Given the description of an element on the screen output the (x, y) to click on. 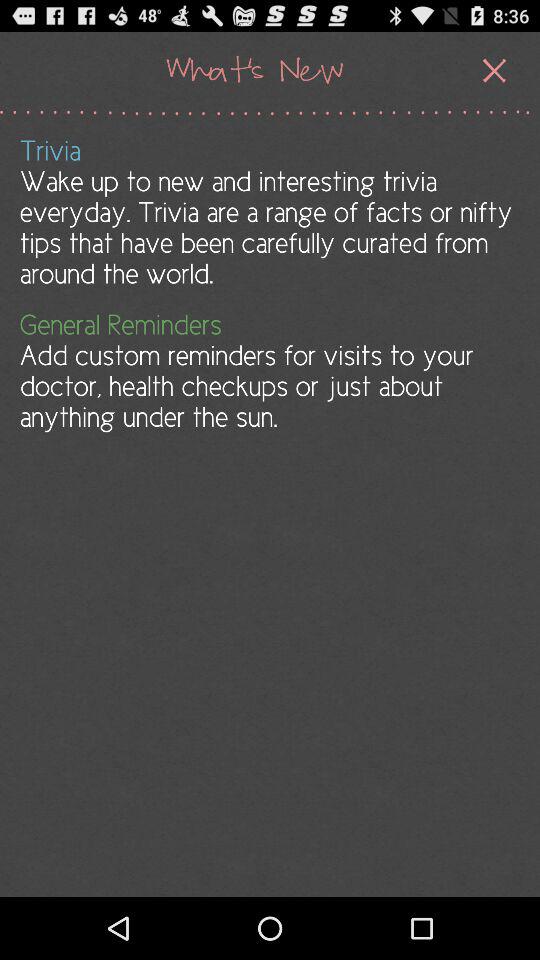
turn off trivia wake up (268, 212)
